Given the description of an element on the screen output the (x, y) to click on. 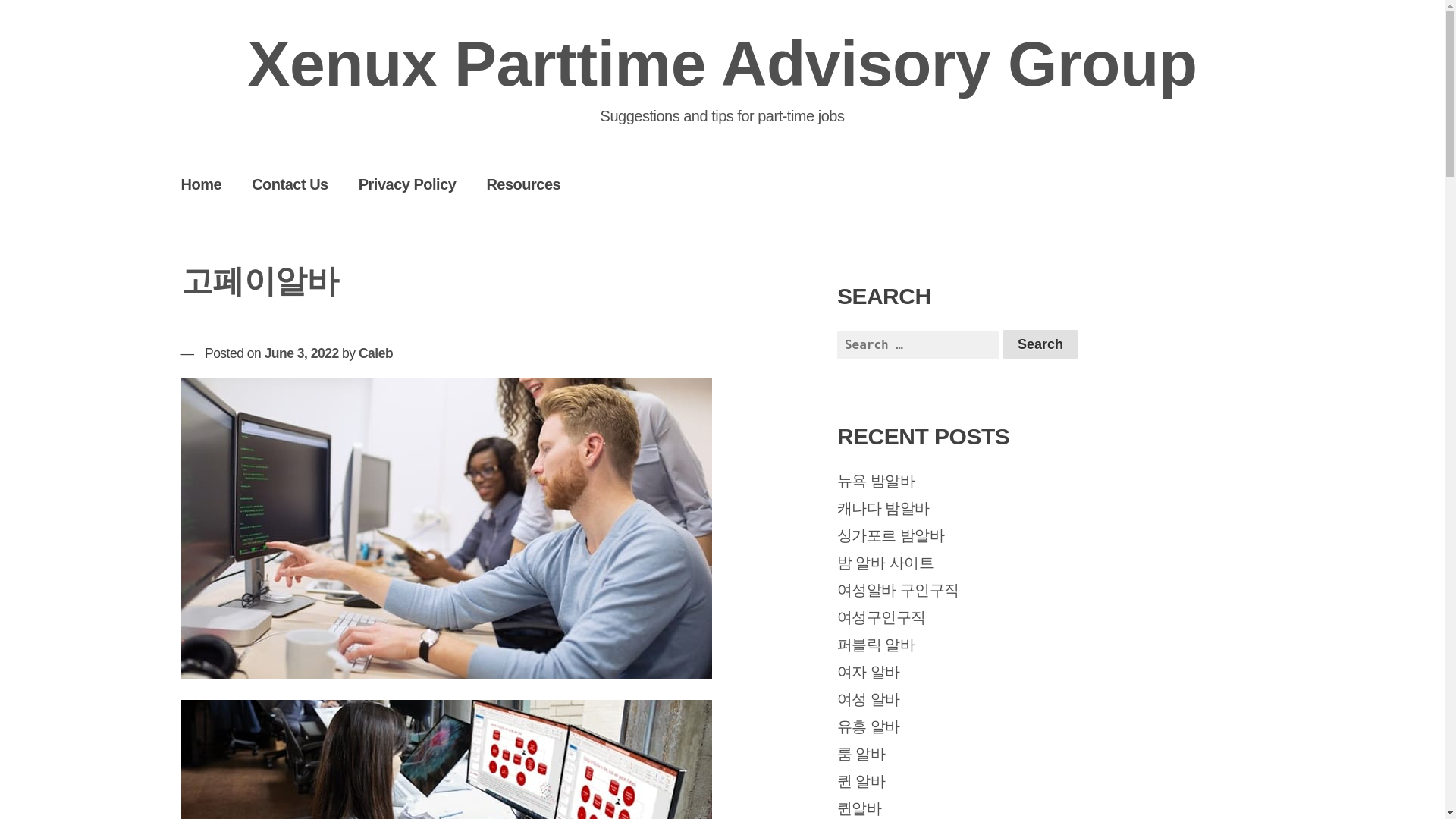
Home (201, 183)
Search (1040, 344)
Caleb (375, 353)
Contact Us (289, 183)
Search (1040, 344)
Privacy Policy (407, 183)
June 3, 2022 (301, 353)
Xenux Parttime Advisory Group (721, 63)
Resources (522, 183)
Search (1040, 344)
